Given the description of an element on the screen output the (x, y) to click on. 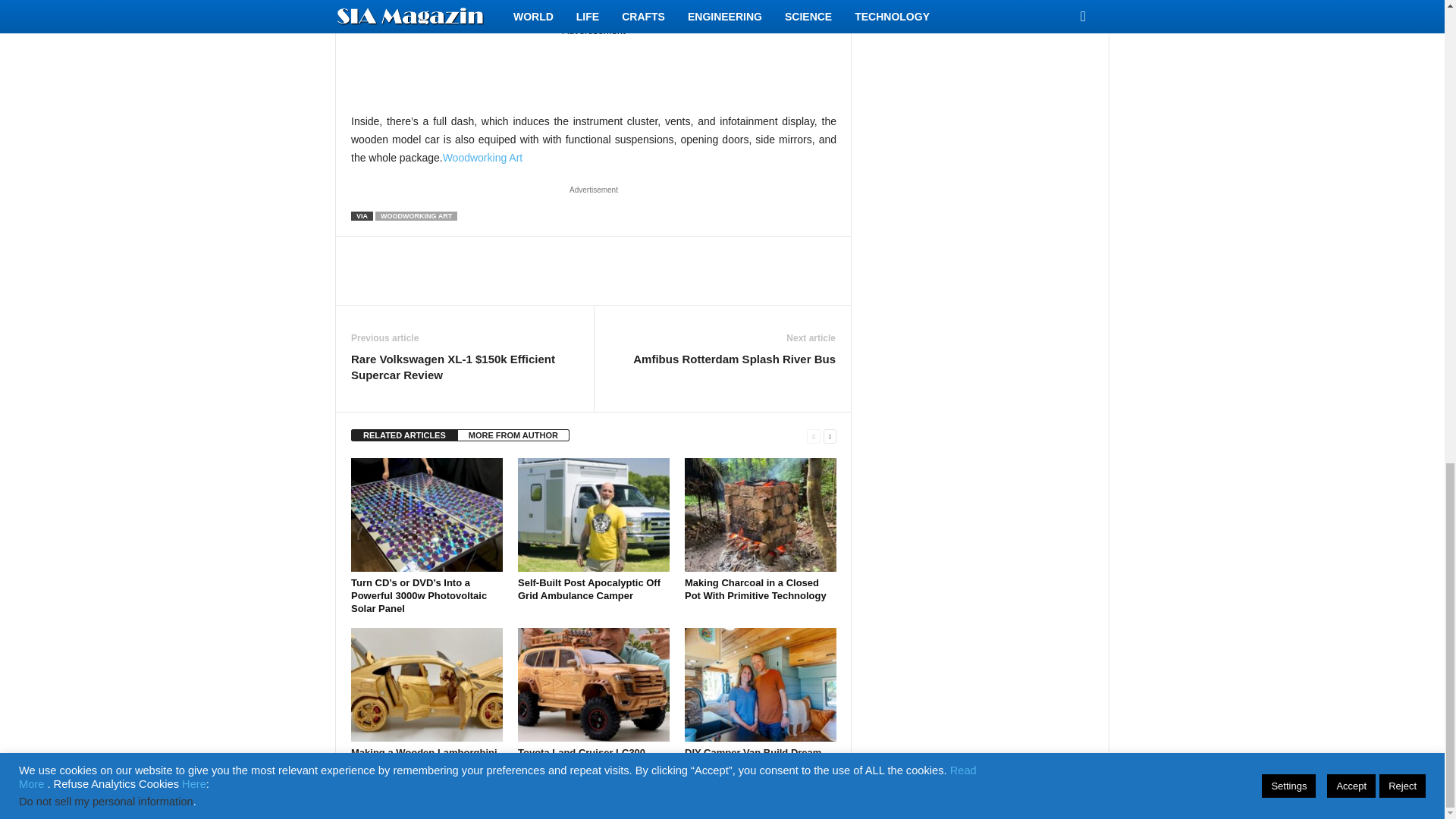
MORE FROM AUTHOR (513, 435)
WOODWORKING ART (416, 215)
Woodworking Art (482, 157)
RELATED ARTICLES (404, 435)
Amfibus Rotterdam Splash River Bus (734, 358)
bottomFacebookLike (390, 252)
